Given the description of an element on the screen output the (x, y) to click on. 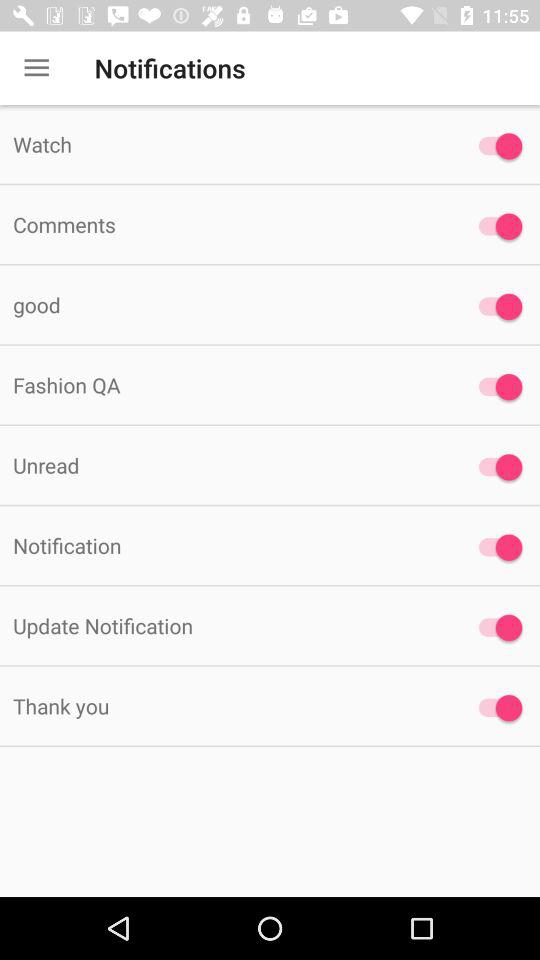
tap comments (225, 224)
